Given the description of an element on the screen output the (x, y) to click on. 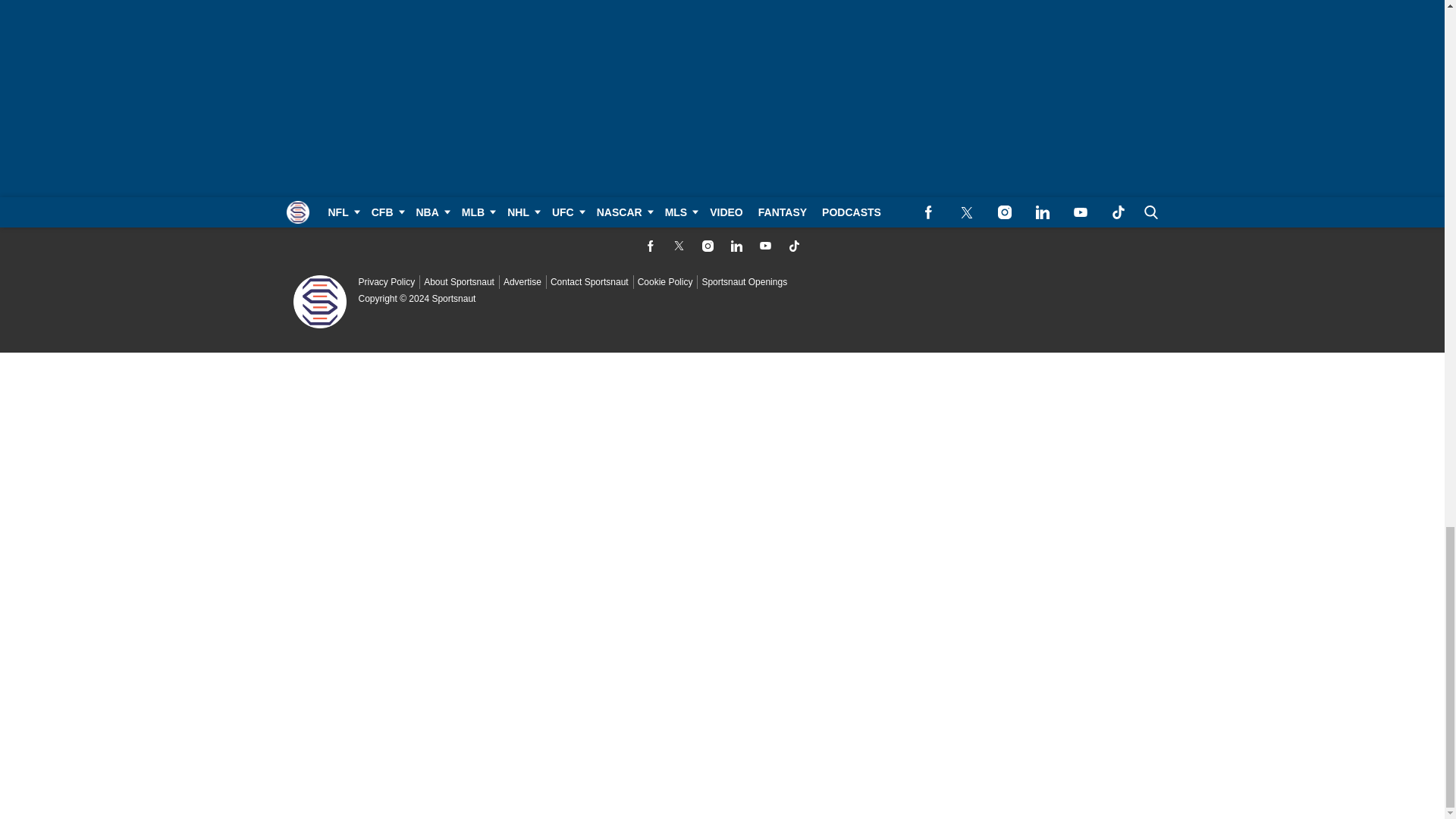
Connect with us on LinkedIn (736, 245)
Follow us on Instagram (707, 245)
Connect with us on TikTok (794, 245)
Follow us on Facebook (650, 245)
Subscribe to our YouTube channel (765, 245)
Follow us on Twitter (678, 245)
